Given the description of an element on the screen output the (x, y) to click on. 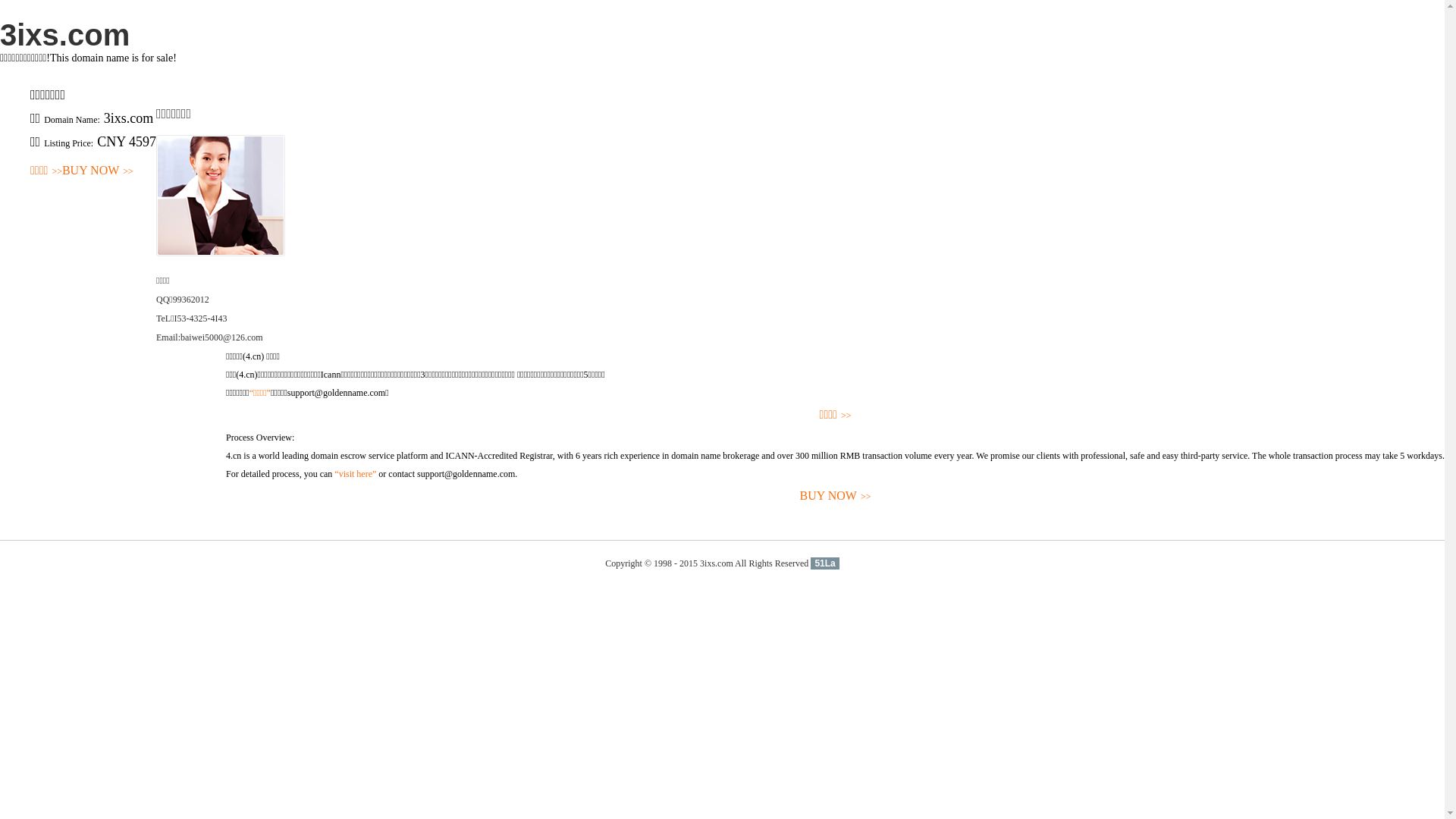
BUY NOW>> Element type: text (97, 170)
BUY NOW>> Element type: text (834, 496)
51La Element type: text (824, 563)
